Given the description of an element on the screen output the (x, y) to click on. 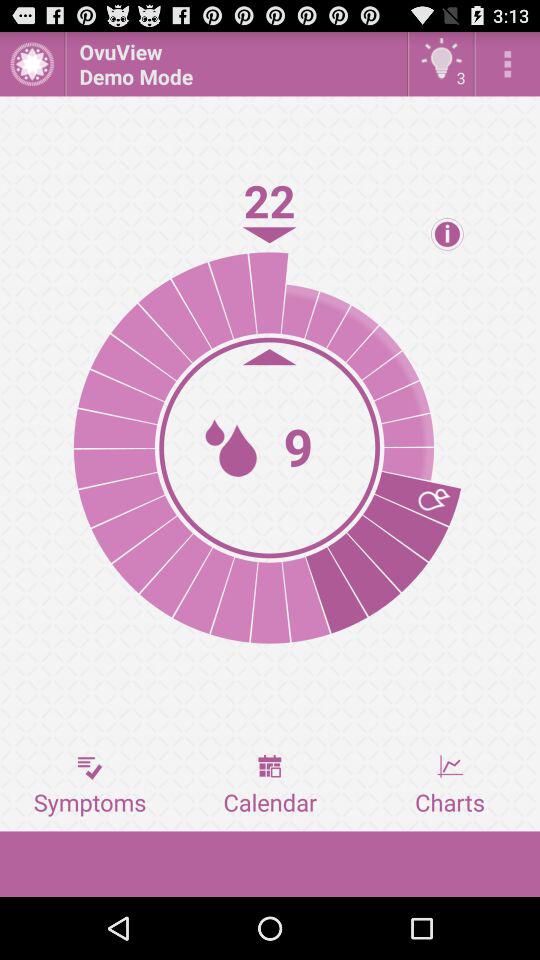
turn off the icon at the bottom right corner (450, 785)
